Given the description of an element on the screen output the (x, y) to click on. 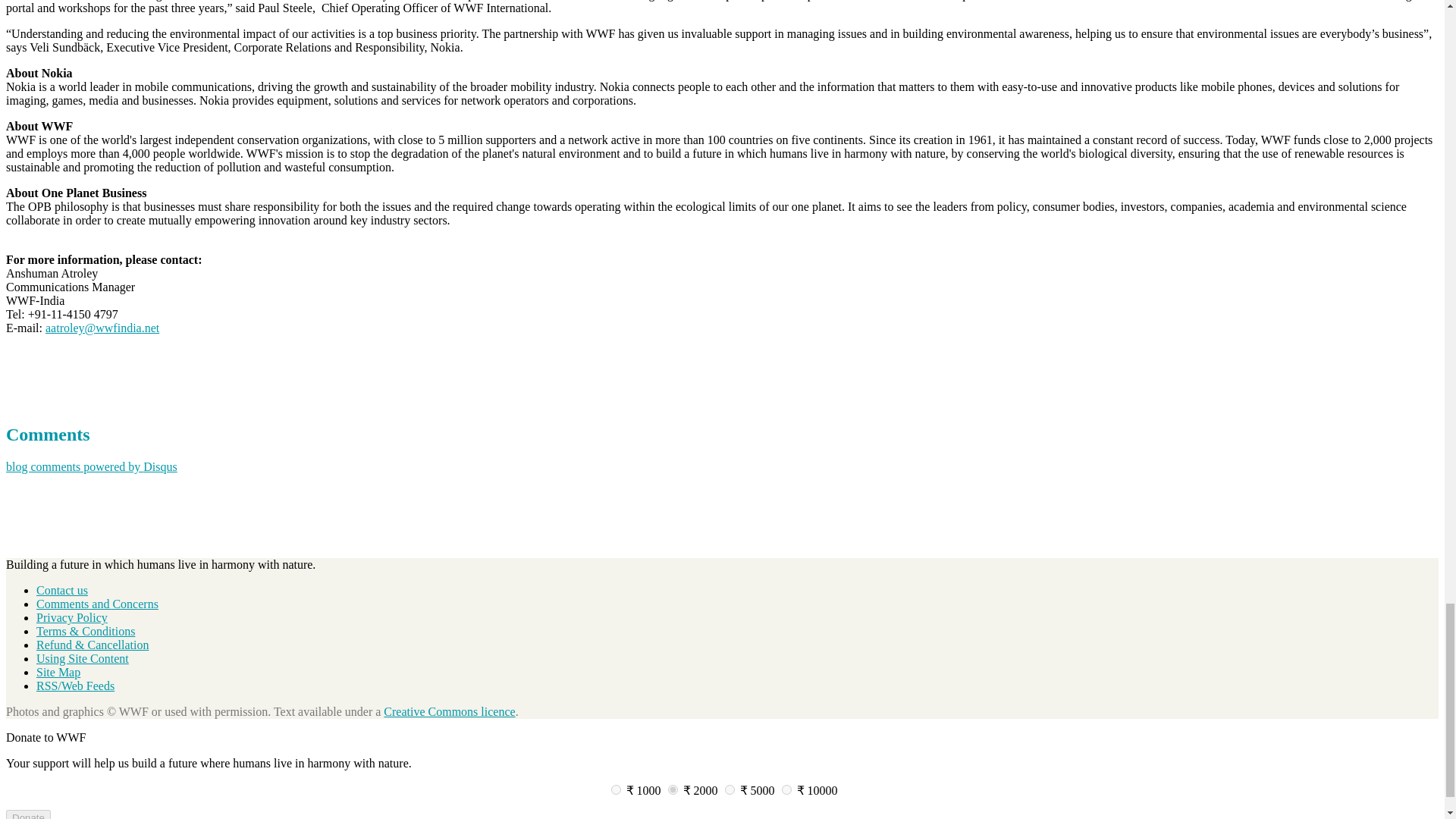
5000 (730, 789)
2000 (671, 789)
1000 (616, 789)
10000 (785, 789)
